Given the description of an element on the screen output the (x, y) to click on. 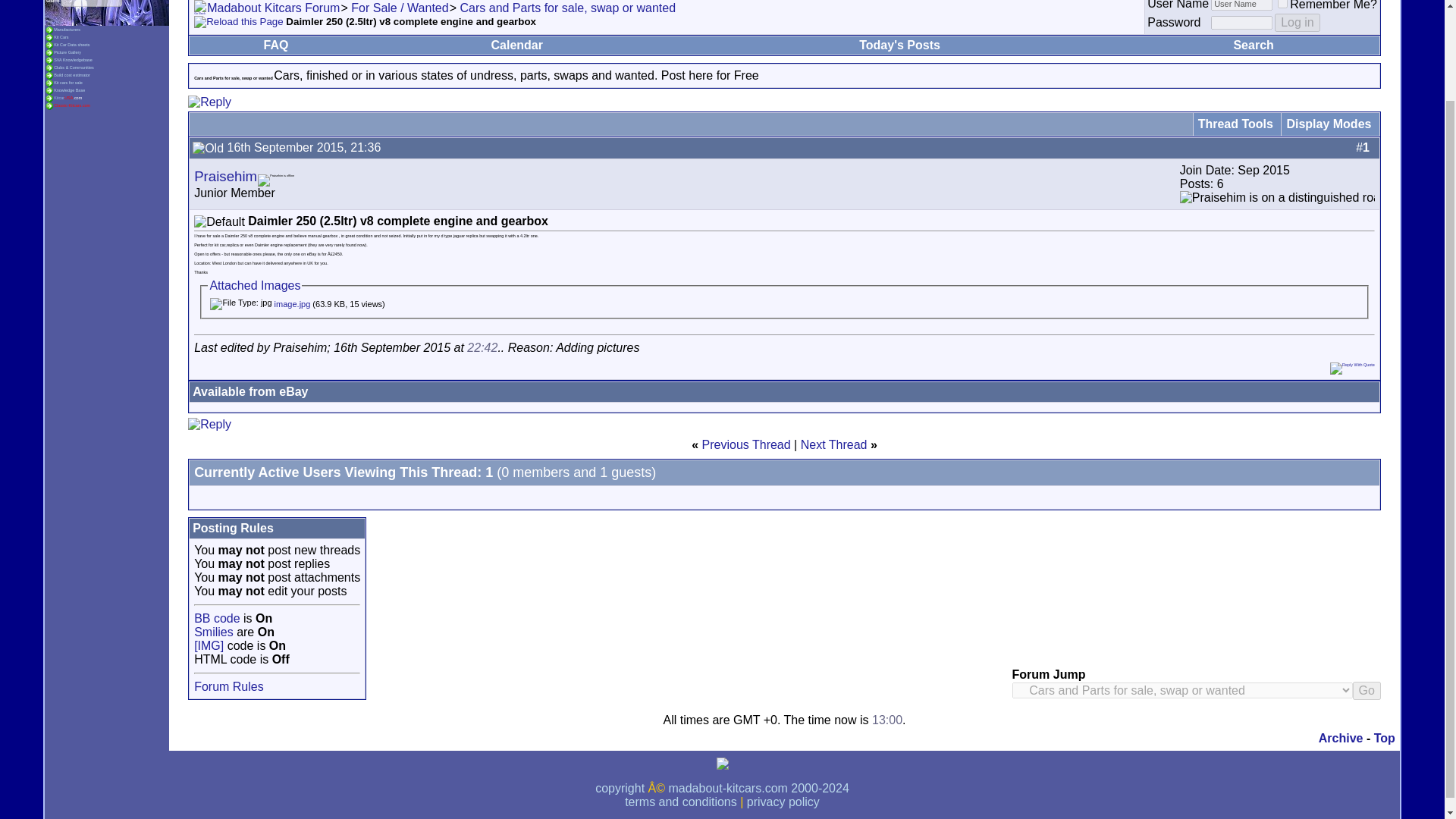
Kit cars for sale (67, 82)
Knowledge Base  (69, 89)
Search for you favourite kit car (60, 37)
FAQ (275, 44)
Kit Car Data sheets (70, 44)
Praisehim (225, 176)
